Given the description of an element on the screen output the (x, y) to click on. 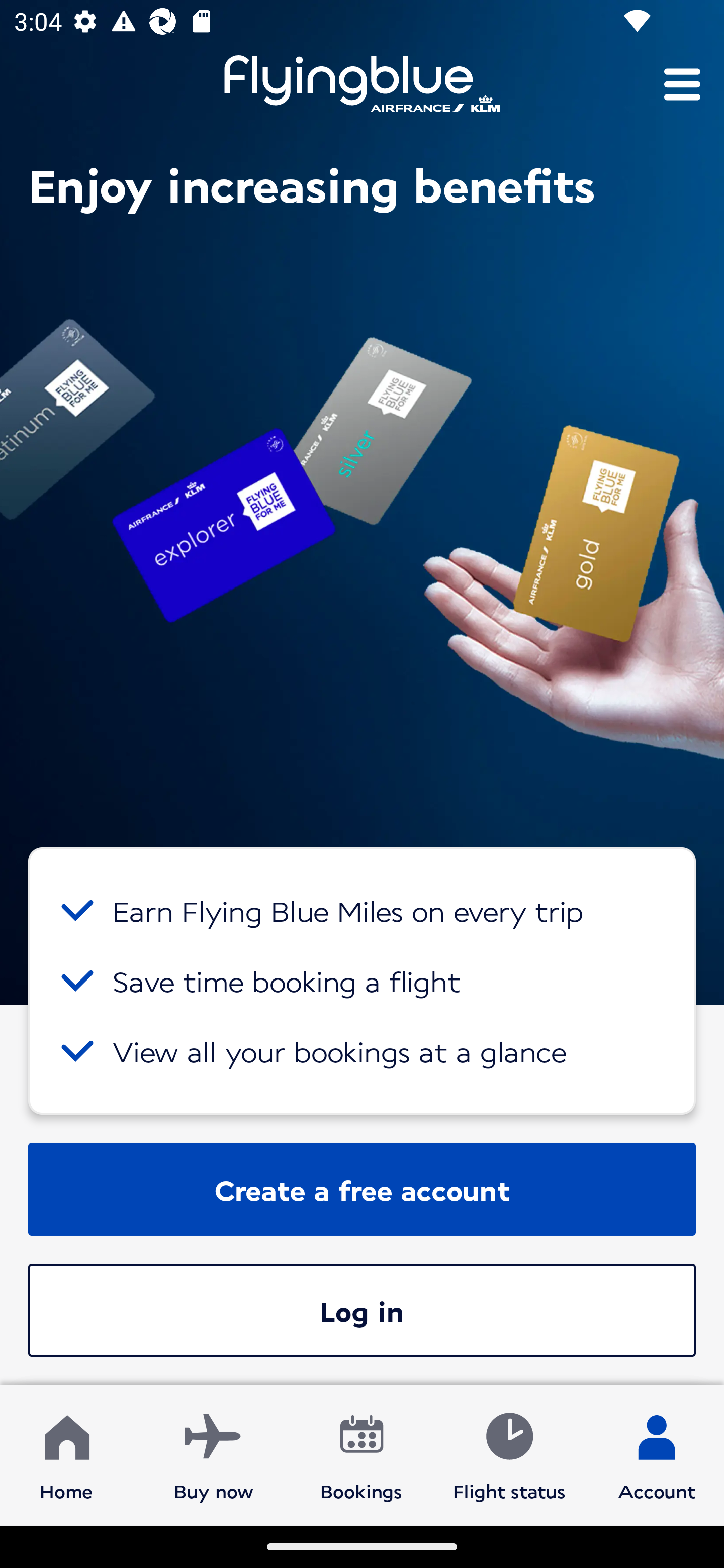
Create a free account (361, 1189)
Log in (361, 1309)
Home (66, 1454)
Buy now (213, 1454)
Bookings (361, 1454)
Flight status (509, 1454)
